Given the description of an element on the screen output the (x, y) to click on. 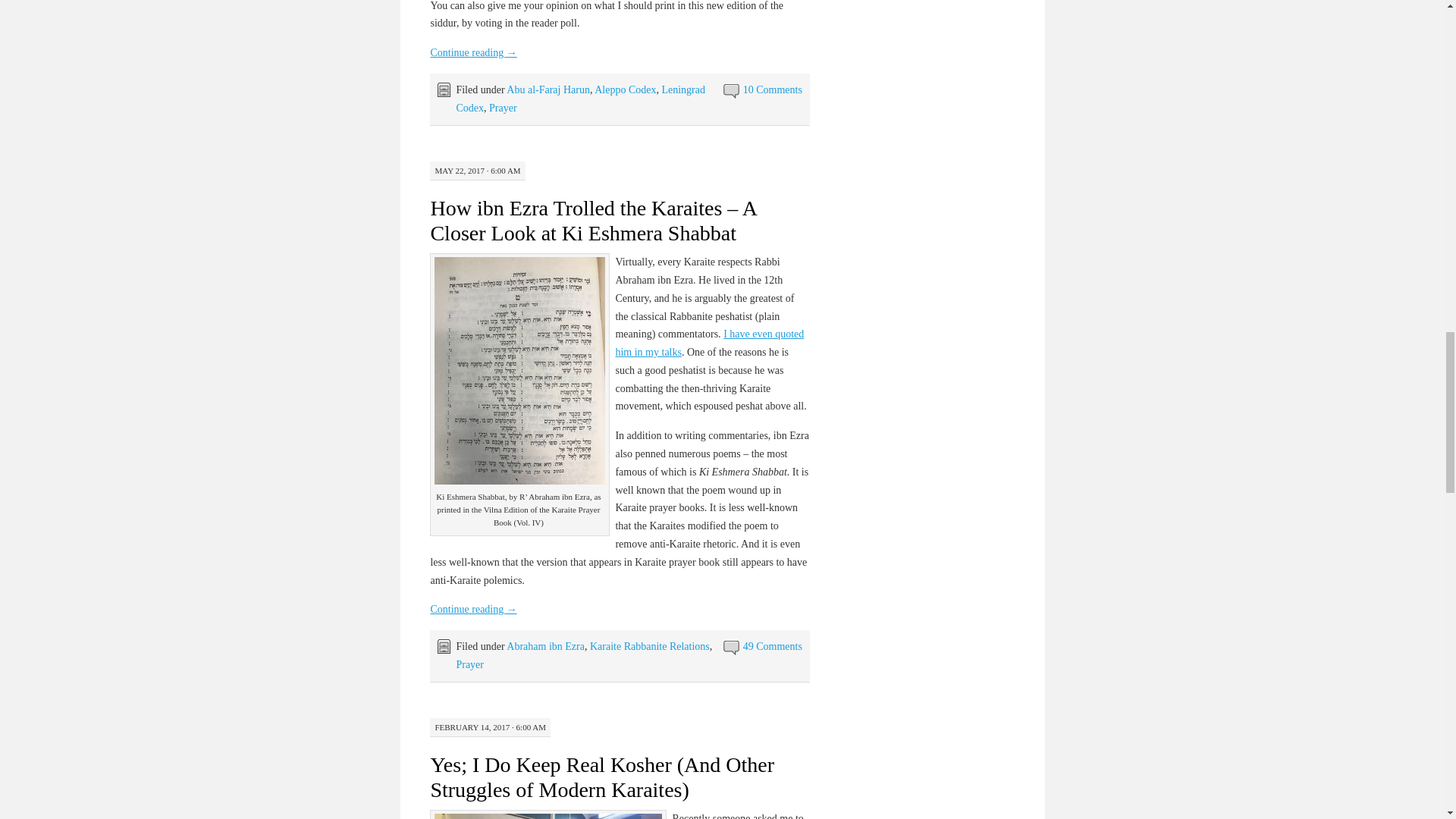
Abu al-Faraj Harun (547, 89)
Aleppo Codex (625, 89)
10 Comments (772, 89)
Leningrad Codex (579, 98)
